Given the description of an element on the screen output the (x, y) to click on. 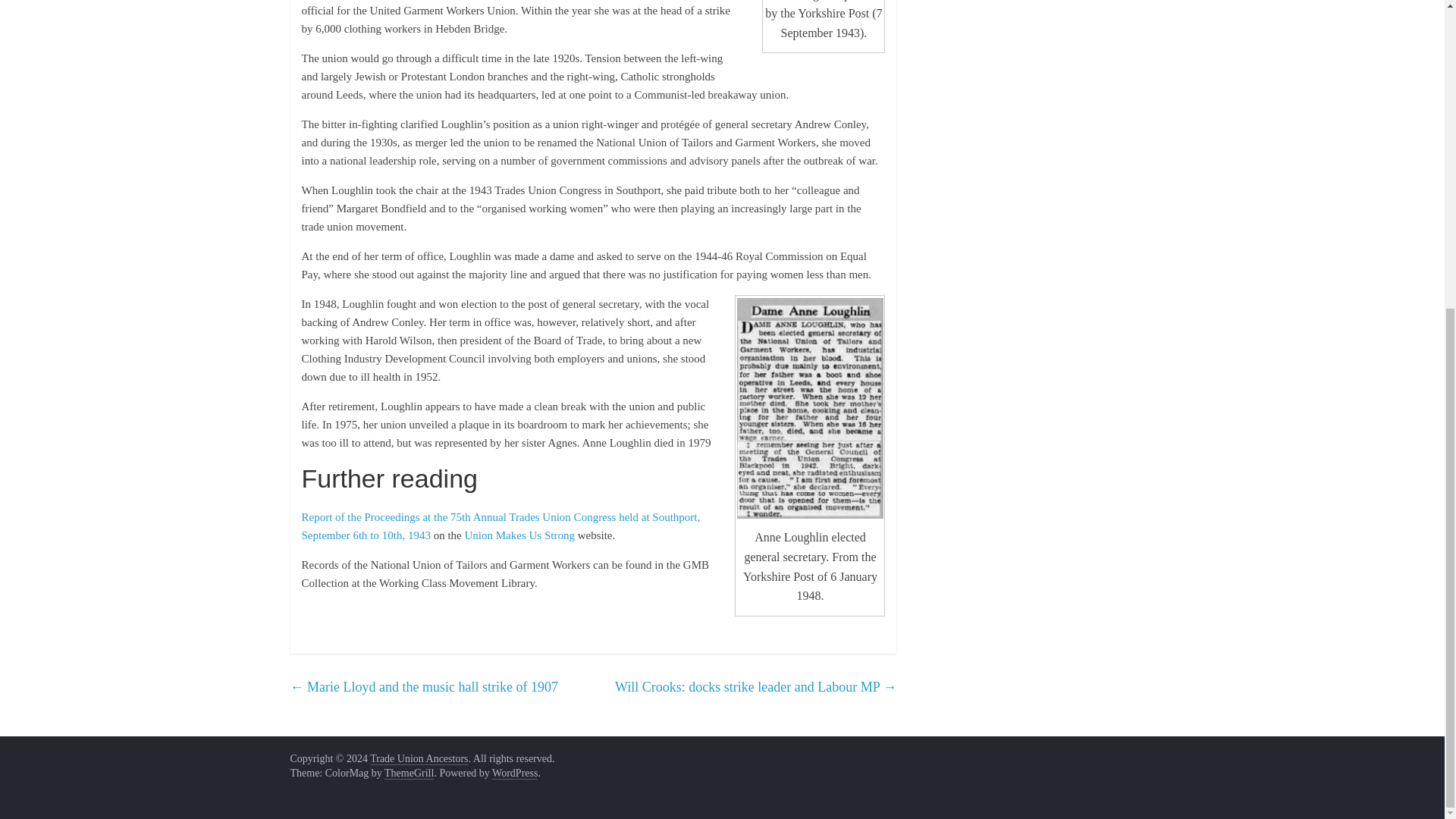
Trade Union Ancestors (418, 758)
Union Makes Us Strong (518, 535)
Trade Union Ancestors (418, 758)
WordPress (514, 773)
ThemeGrill (408, 773)
WordPress (514, 773)
ThemeGrill (408, 773)
